Given the description of an element on the screen output the (x, y) to click on. 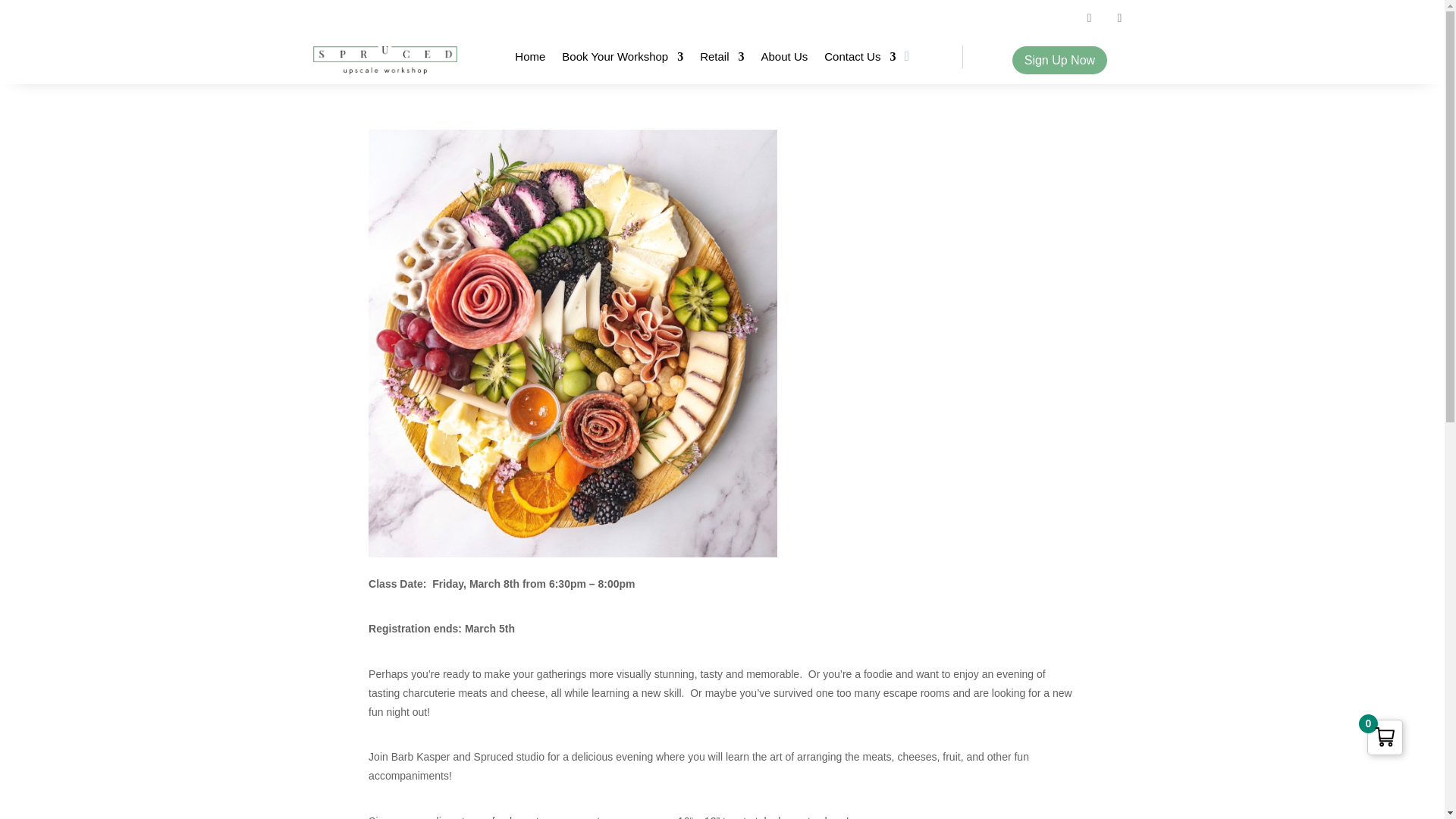
logo (385, 59)
Retail (722, 59)
Follow on Facebook (1088, 17)
Contact Us (859, 59)
Follow on Instagram (1118, 17)
Home (529, 59)
About Us (784, 59)
Book Your Workshop (622, 59)
